Given the description of an element on the screen output the (x, y) to click on. 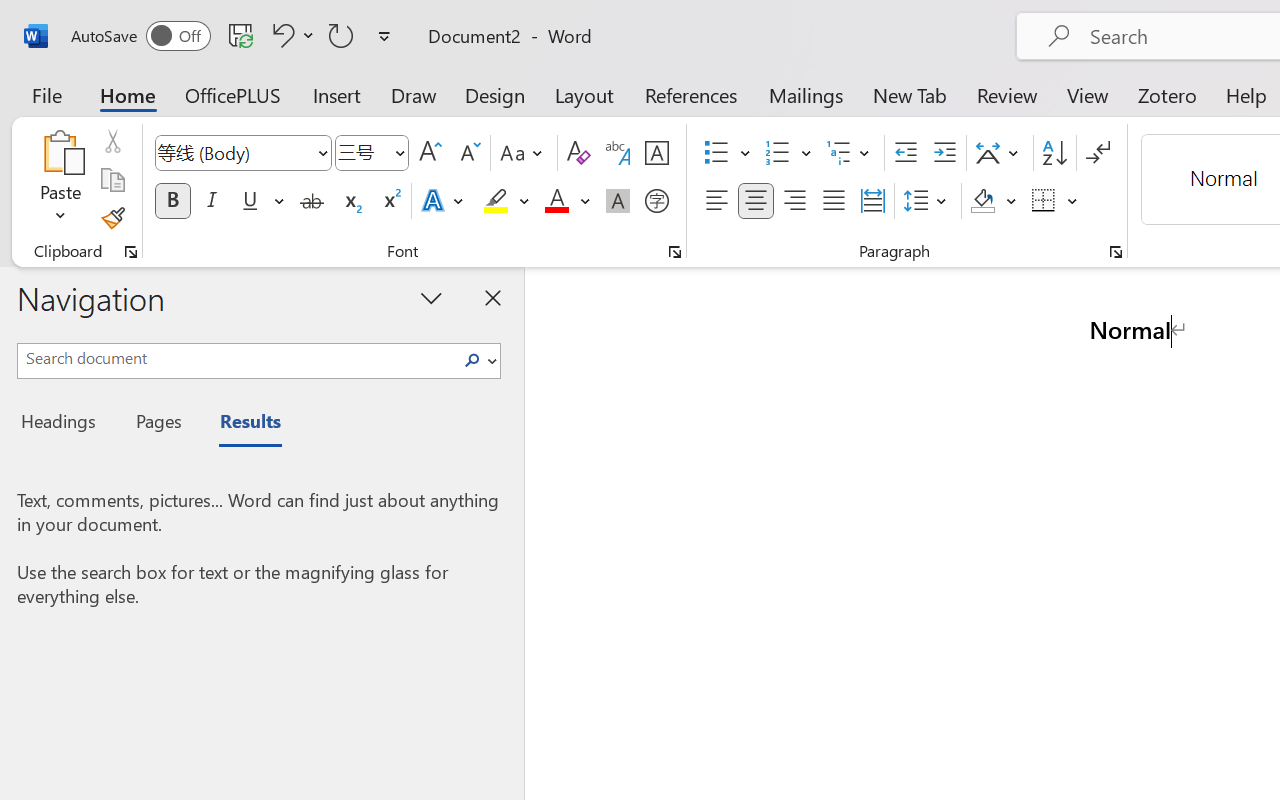
Undo Style (290, 35)
Numbering (788, 153)
Design (495, 94)
Underline (261, 201)
Text Highlight Color Yellow (495, 201)
Align Left (716, 201)
Customize Quick Access Toolbar (384, 35)
Search (478, 360)
Align Right (794, 201)
